Given the description of an element on the screen output the (x, y) to click on. 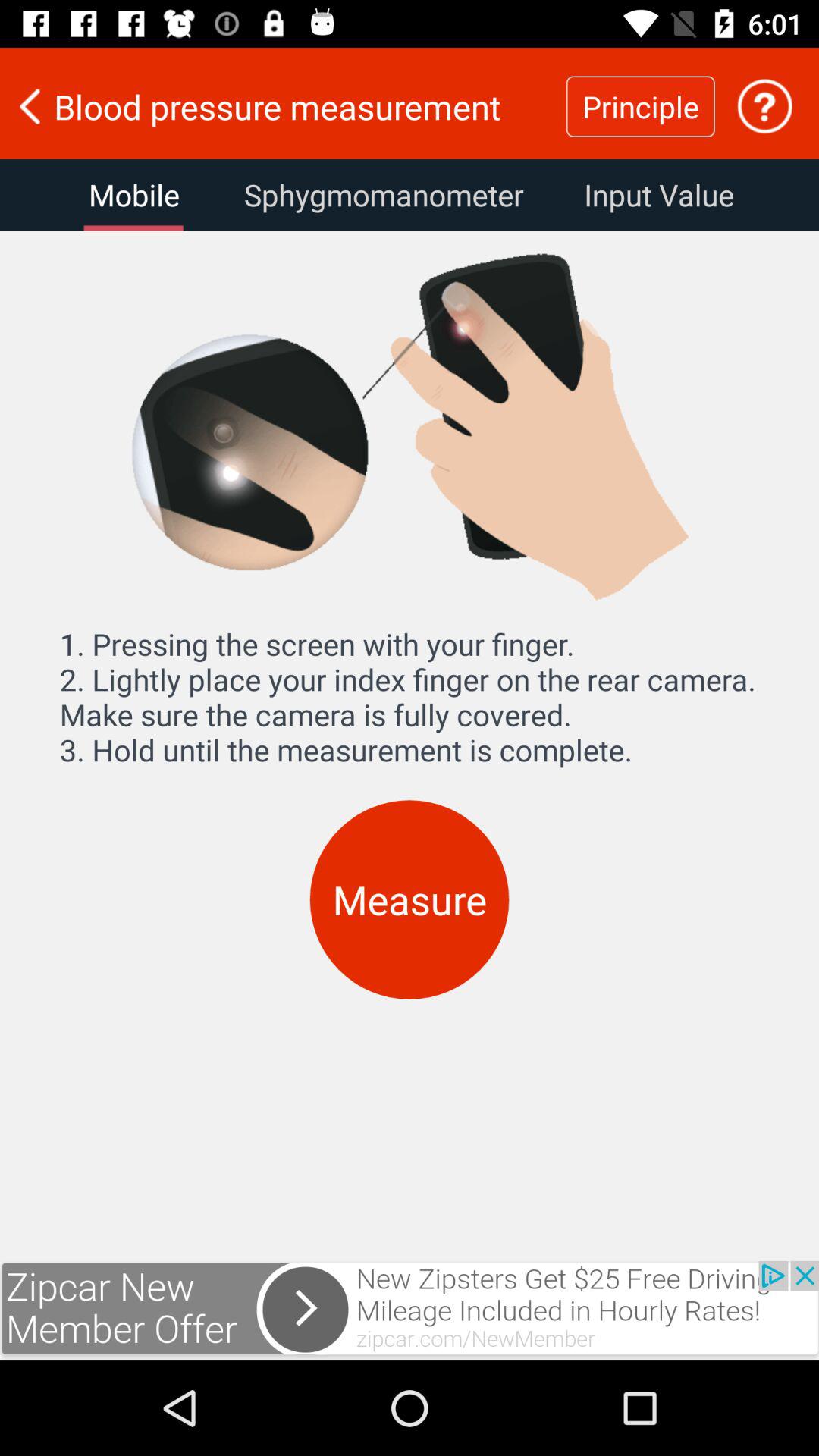
click to the option to get help (764, 106)
